Given the description of an element on the screen output the (x, y) to click on. 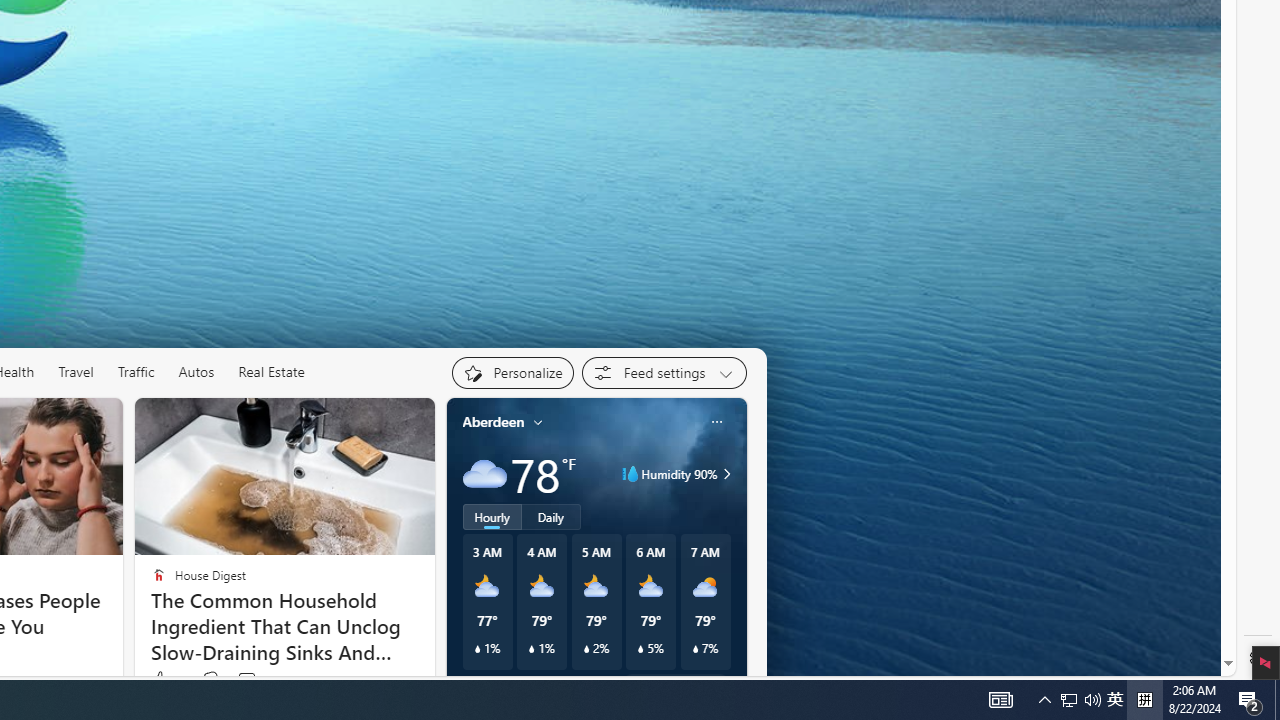
AutomationID: 4105 (1000, 699)
Feed settings (664, 372)
Class: weather-arrow-glyph (726, 474)
Personalize your feed" (511, 372)
Traffic (135, 372)
Class: icon-img (715, 421)
Show desktop (1277, 699)
Humidity 90% (723, 474)
Real Estate (271, 371)
Traffic (136, 371)
Autos (196, 372)
Cloudy (484, 474)
Daily (550, 516)
Autos (196, 371)
Hourly (492, 516)
